Given the description of an element on the screen output the (x, y) to click on. 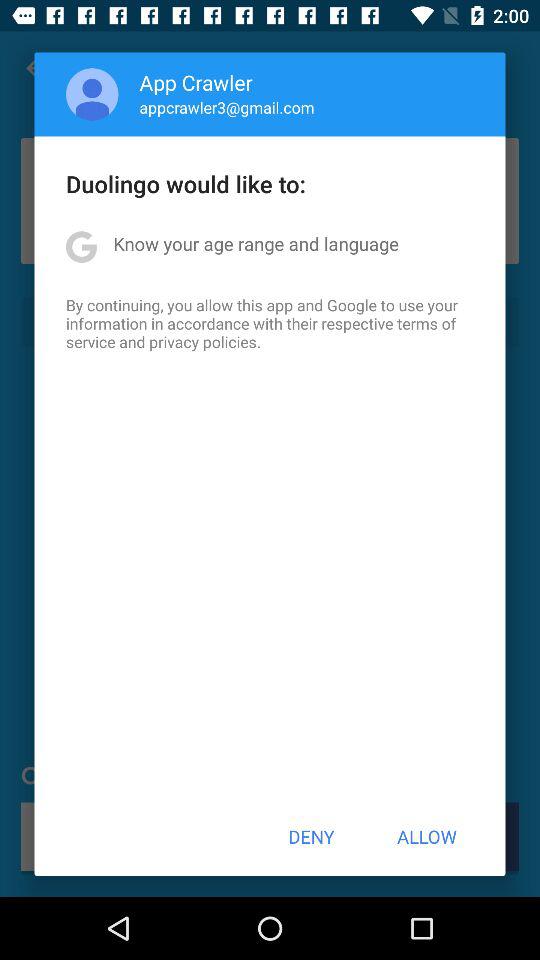
launch the item above the by continuing you (255, 243)
